Given the description of an element on the screen output the (x, y) to click on. 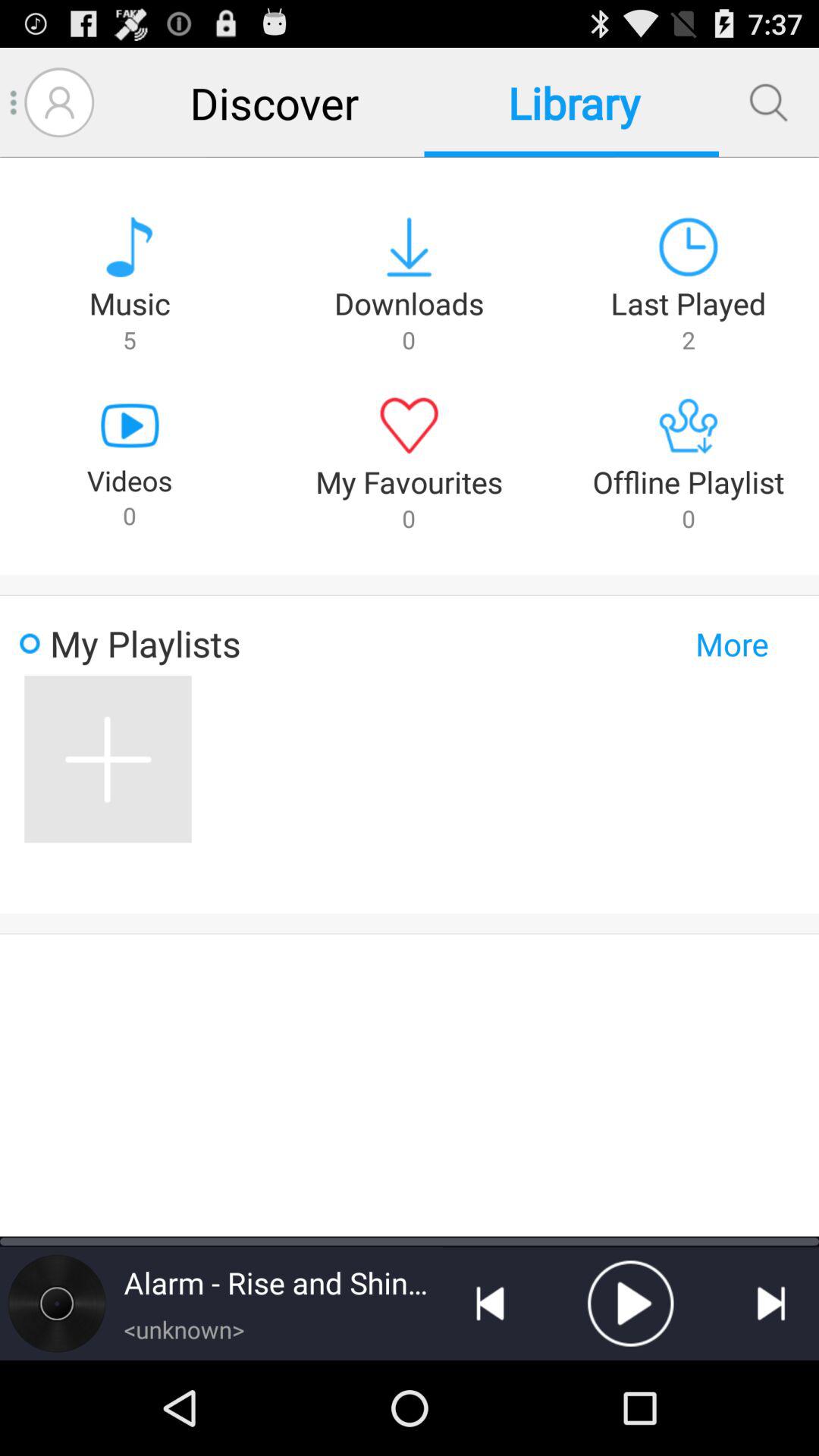
play the soundtrack (630, 1303)
